Given the description of an element on the screen output the (x, y) to click on. 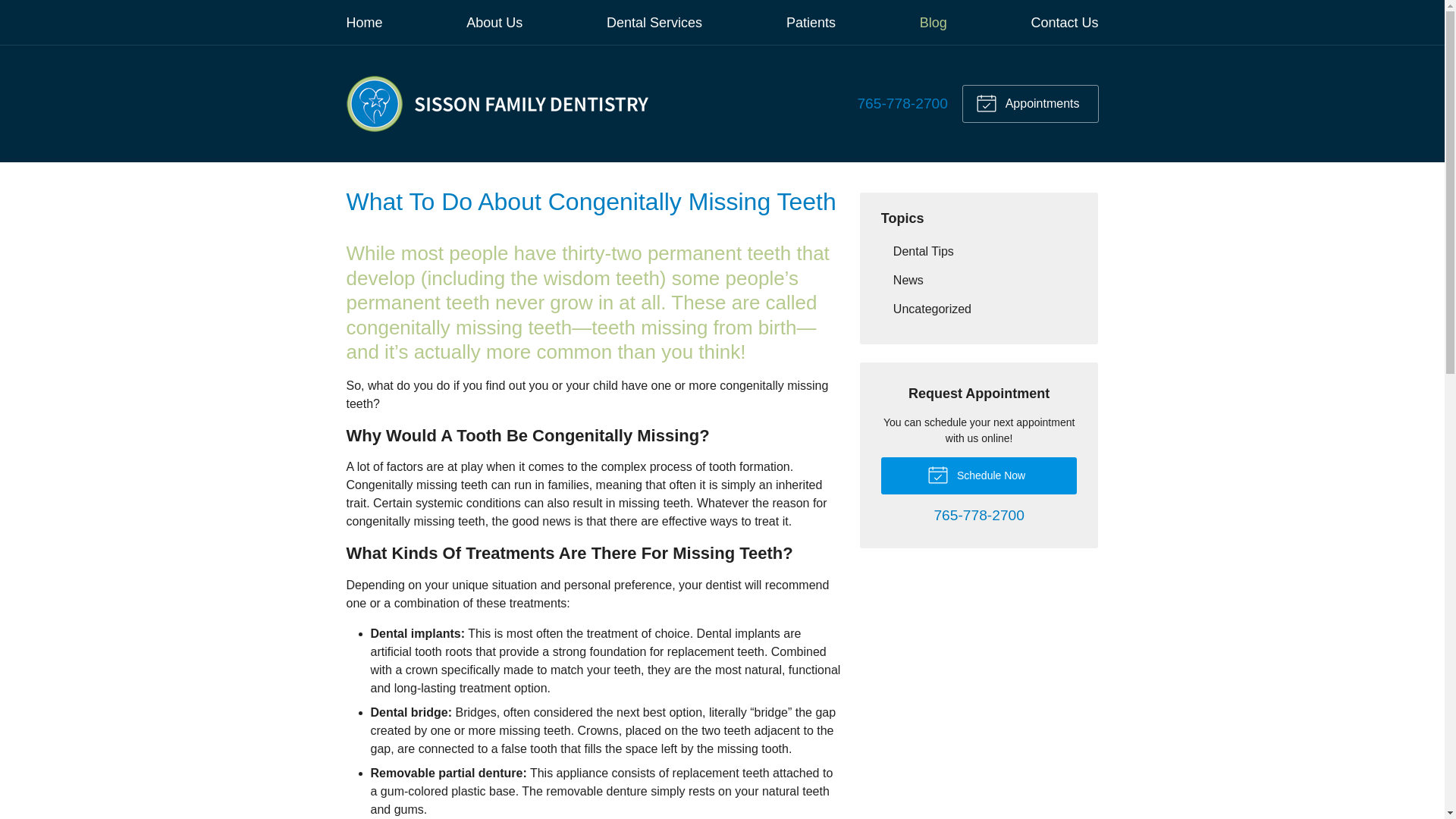
Schedule Now (978, 475)
Schedule Now (978, 475)
Dental Services (654, 22)
Home (363, 22)
765-778-2700 (979, 516)
Patients (810, 22)
About Us (493, 22)
Sisson Family Dentistry (497, 103)
Request Appointment (1029, 103)
News (978, 280)
Call practice (979, 516)
765-778-2700 (902, 103)
Uncategorized (978, 308)
Contact Us (1063, 22)
Appointments (1029, 103)
